Given the description of an element on the screen output the (x, y) to click on. 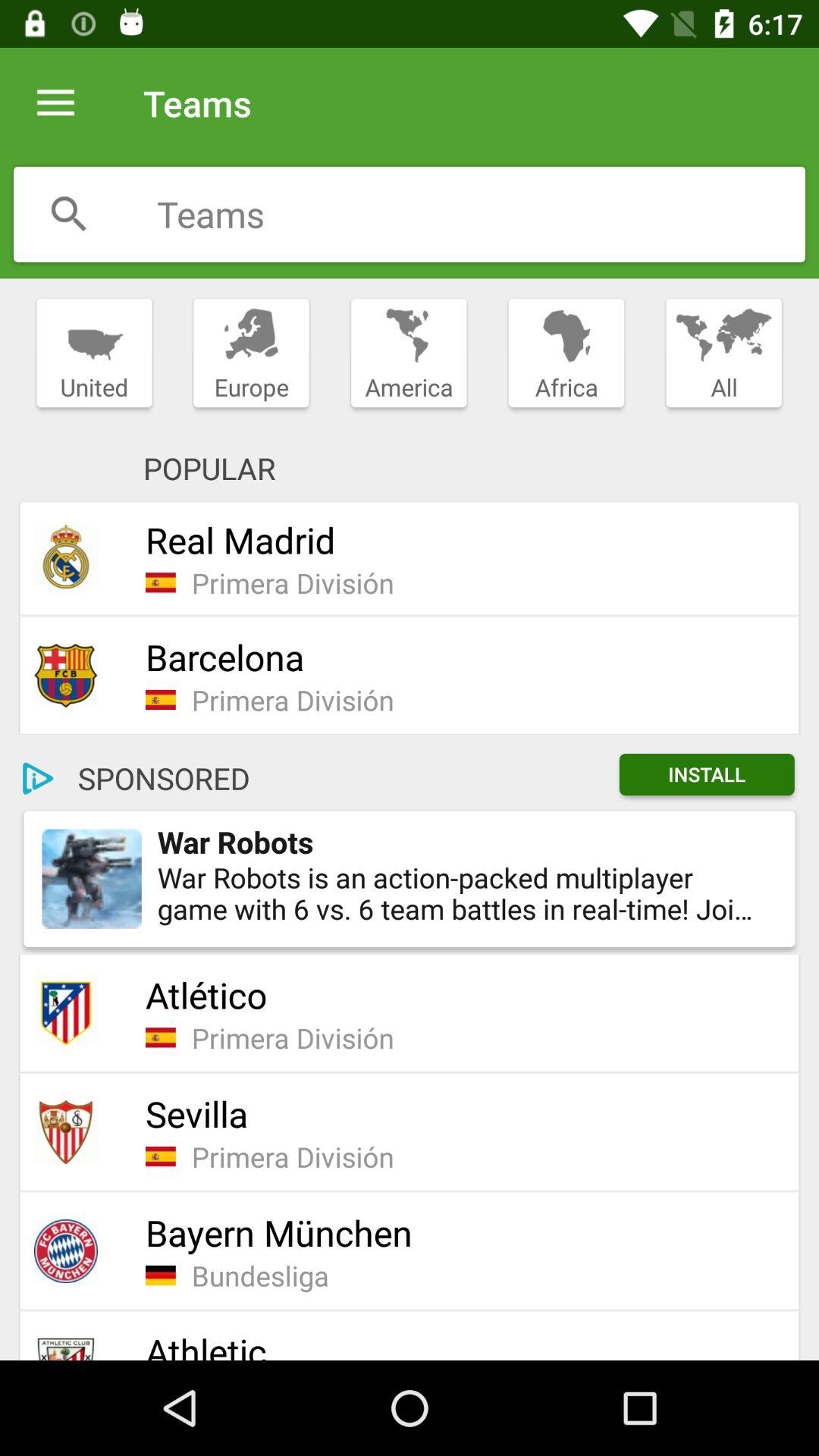
select item next to the sponsored item (38, 778)
